Given the description of an element on the screen output the (x, y) to click on. 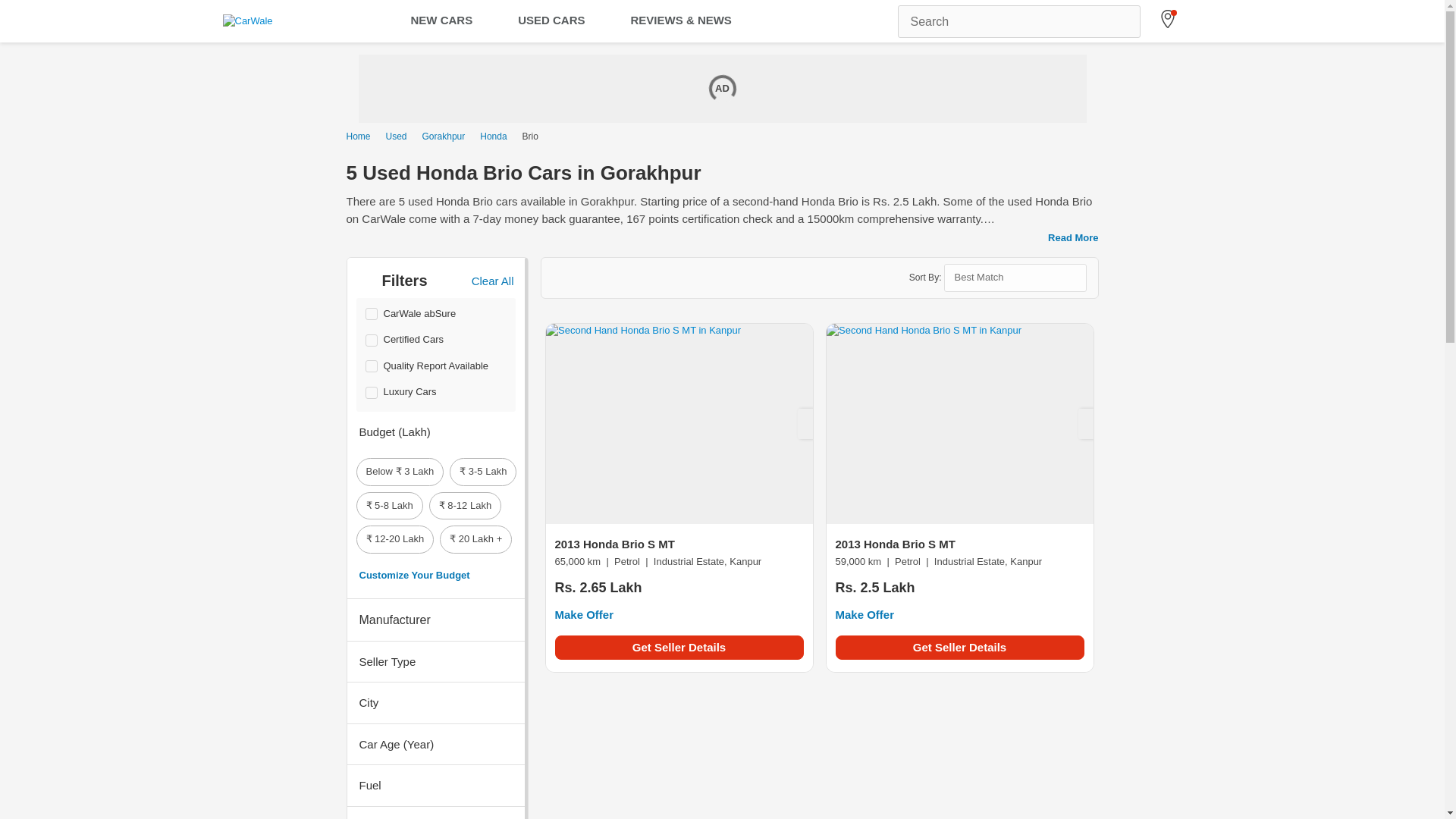
Gorakhpur (443, 135)
Home (360, 135)
CarWale (247, 21)
Honda Brio S MT (960, 423)
Honda (493, 135)
Honda Brio S MT (679, 423)
Make Offer (584, 614)
Used 2013 Honda Brio in Kanpur (678, 579)
Used Cars in Gorakhpur (443, 135)
Make Offer (865, 614)
